Given the description of an element on the screen output the (x, y) to click on. 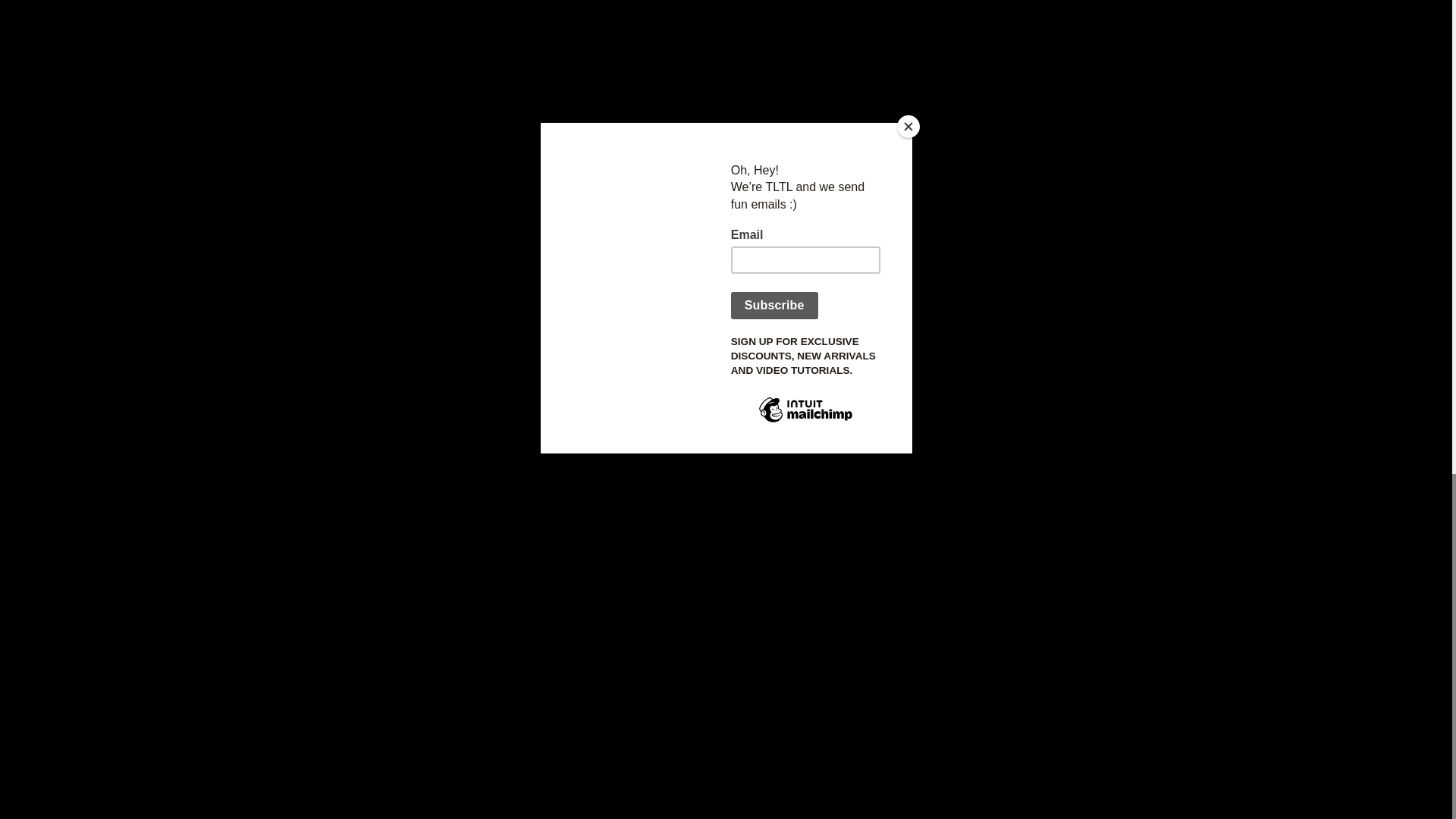
Share on Facebook (773, 80)
Pin on Pinterest (852, 80)
White (359, 505)
Black (322, 505)
